Given the description of an element on the screen output the (x, y) to click on. 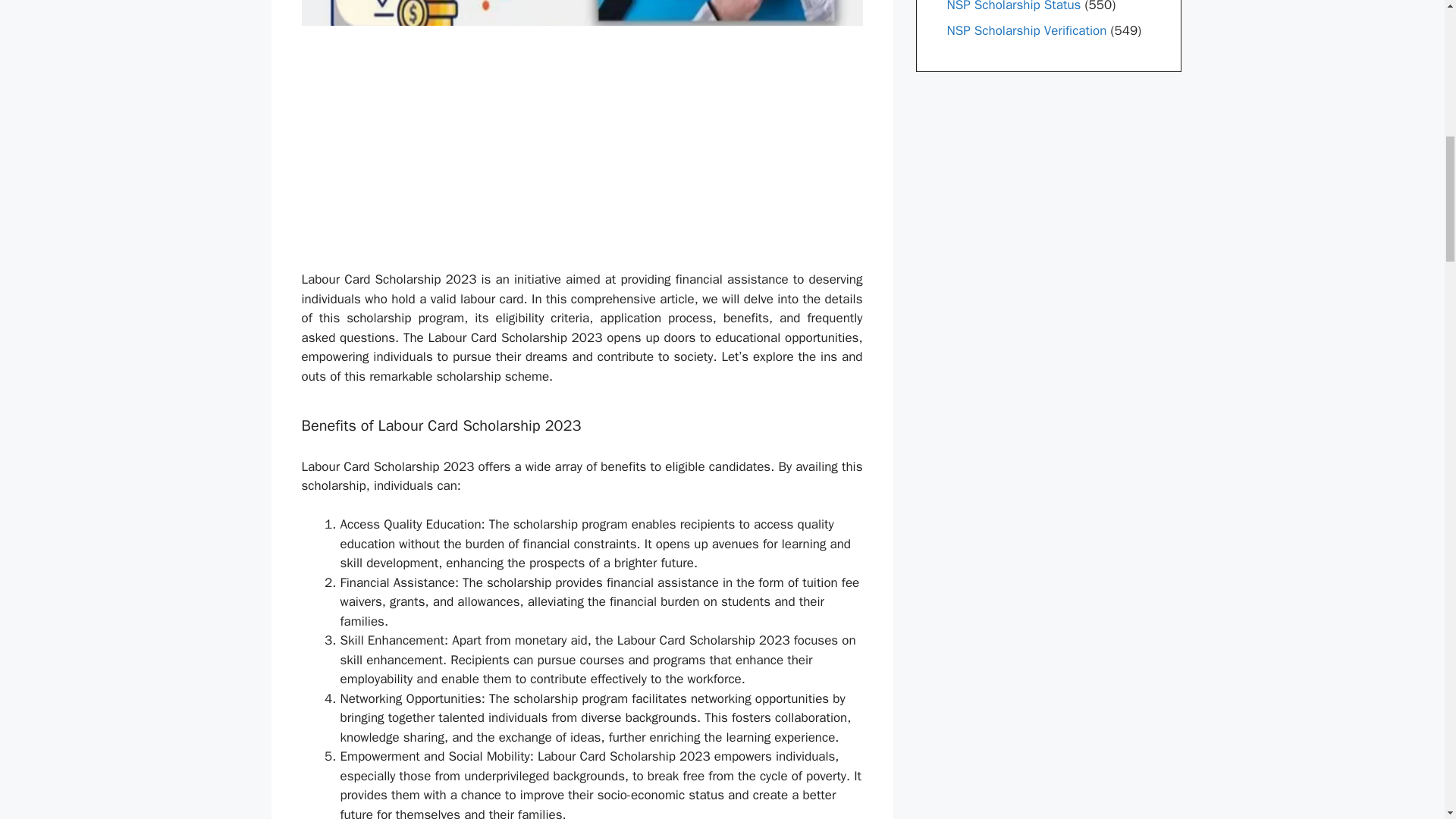
Scroll back to top (1406, 720)
Advertisement (611, 157)
Labour Card Scholarship 2023 Full Details Here (582, 13)
